Given the description of an element on the screen output the (x, y) to click on. 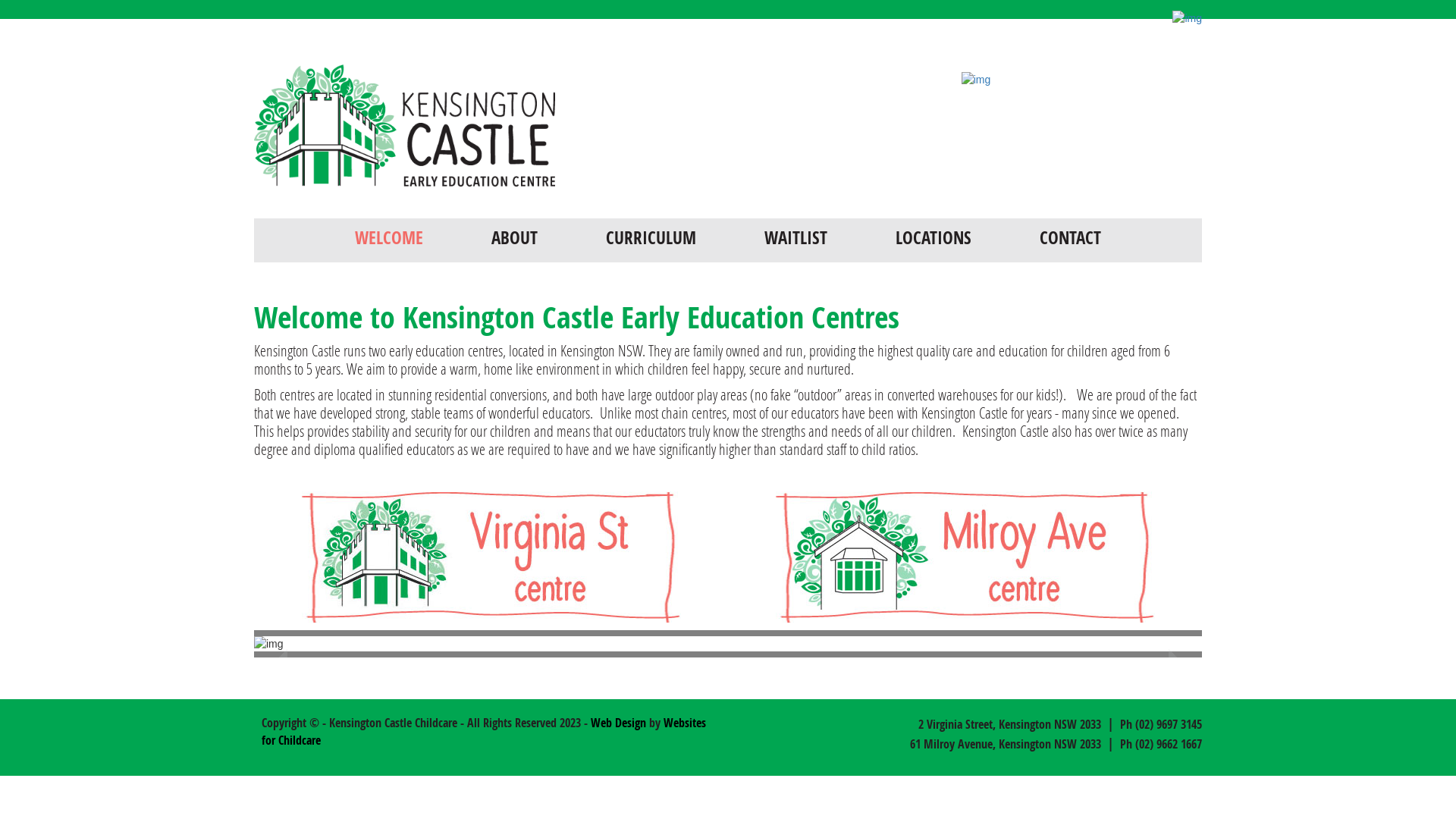
Web Design Element type: text (618, 722)
CONTACT Element type: text (1070, 238)
WAITLIST Element type: text (795, 238)
Websites for Childcare Element type: text (483, 731)
WELCOME Element type: text (388, 238)
CURRICULUM Element type: text (650, 238)
ABOUT Element type: text (514, 238)
LOCATIONS Element type: text (933, 238)
